Given the description of an element on the screen output the (x, y) to click on. 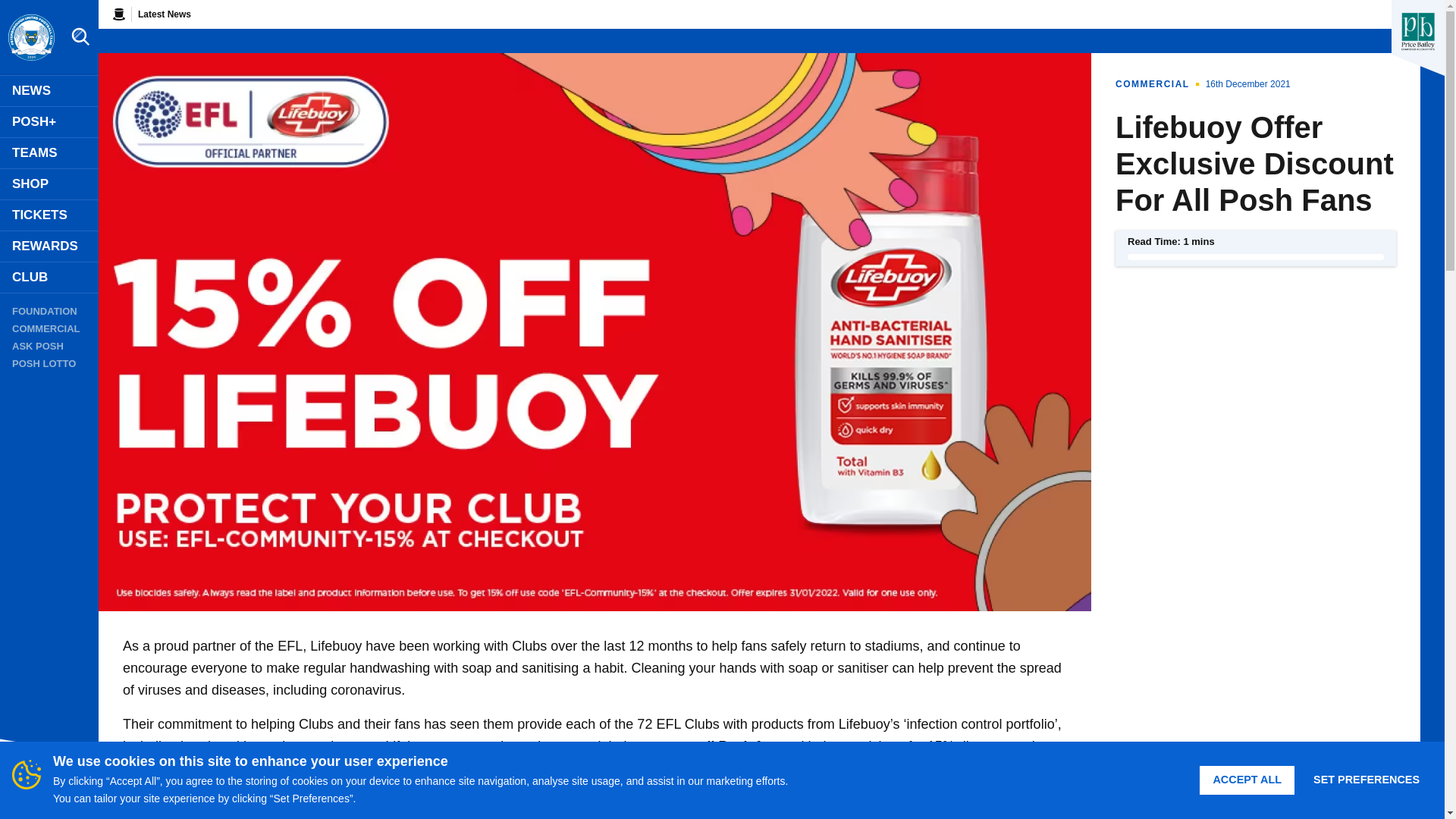
News (49, 91)
NEWS (49, 91)
TEAMS (49, 153)
Link to Peterborough United homepage (31, 37)
